Given the description of an element on the screen output the (x, y) to click on. 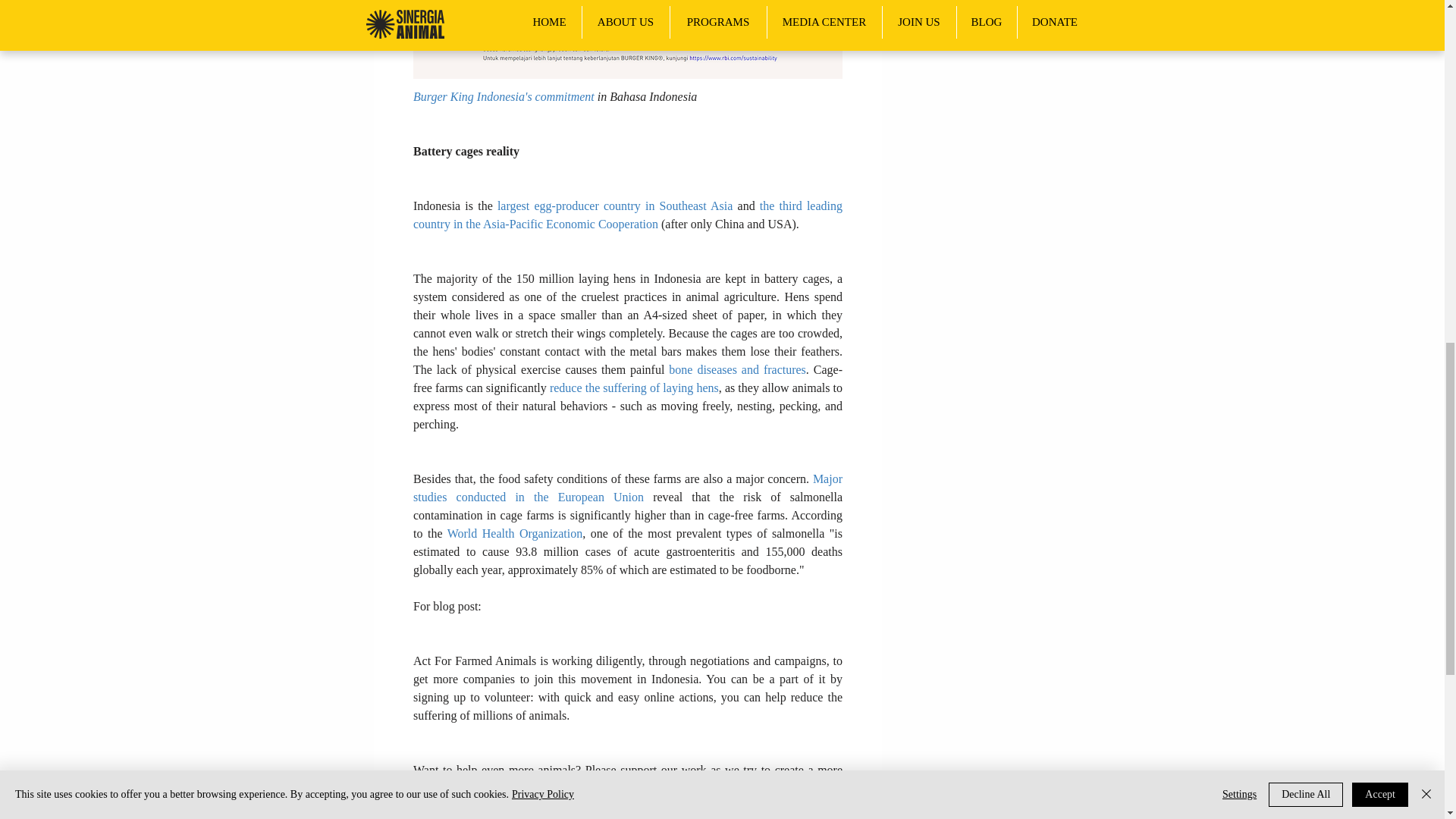
here (559, 788)
 World Health Organization (512, 533)
bone diseases and fractures (736, 369)
Major studies conducted in the European Union (628, 487)
Burger King Indonesia's commitment (503, 96)
largest egg-producer country in Southeast Asia (614, 205)
reduce the suffering of laying hens (632, 387)
